Given the description of an element on the screen output the (x, y) to click on. 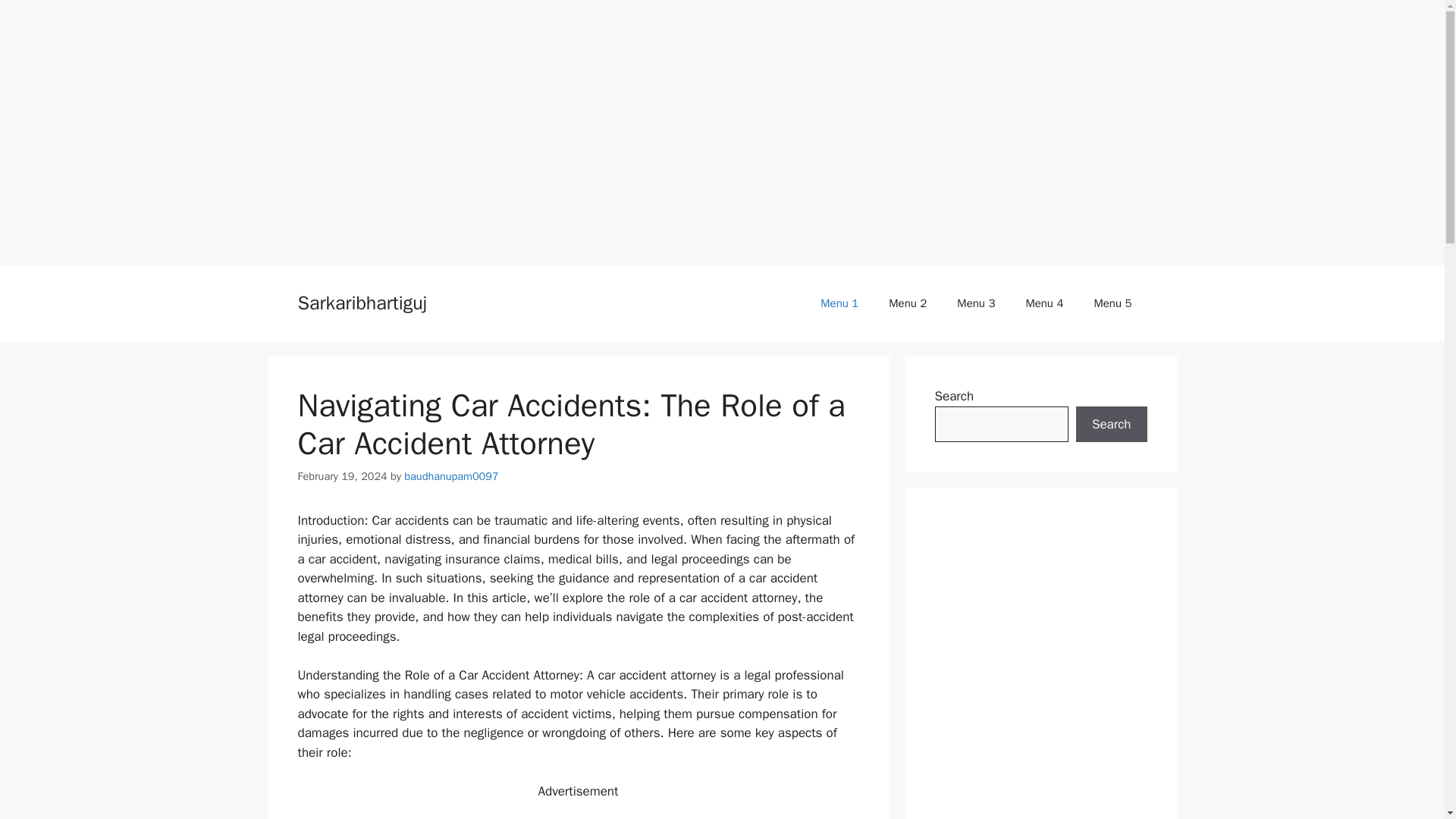
baudhanupam0097 (450, 476)
Search (1111, 424)
Menu 4 (1044, 302)
Menu 2 (907, 302)
Sarkaribhartiguj (361, 302)
View all posts by baudhanupam0097 (450, 476)
Advertisement (578, 812)
Menu 1 (839, 302)
Menu 5 (1112, 302)
Menu 3 (976, 302)
